Given the description of an element on the screen output the (x, y) to click on. 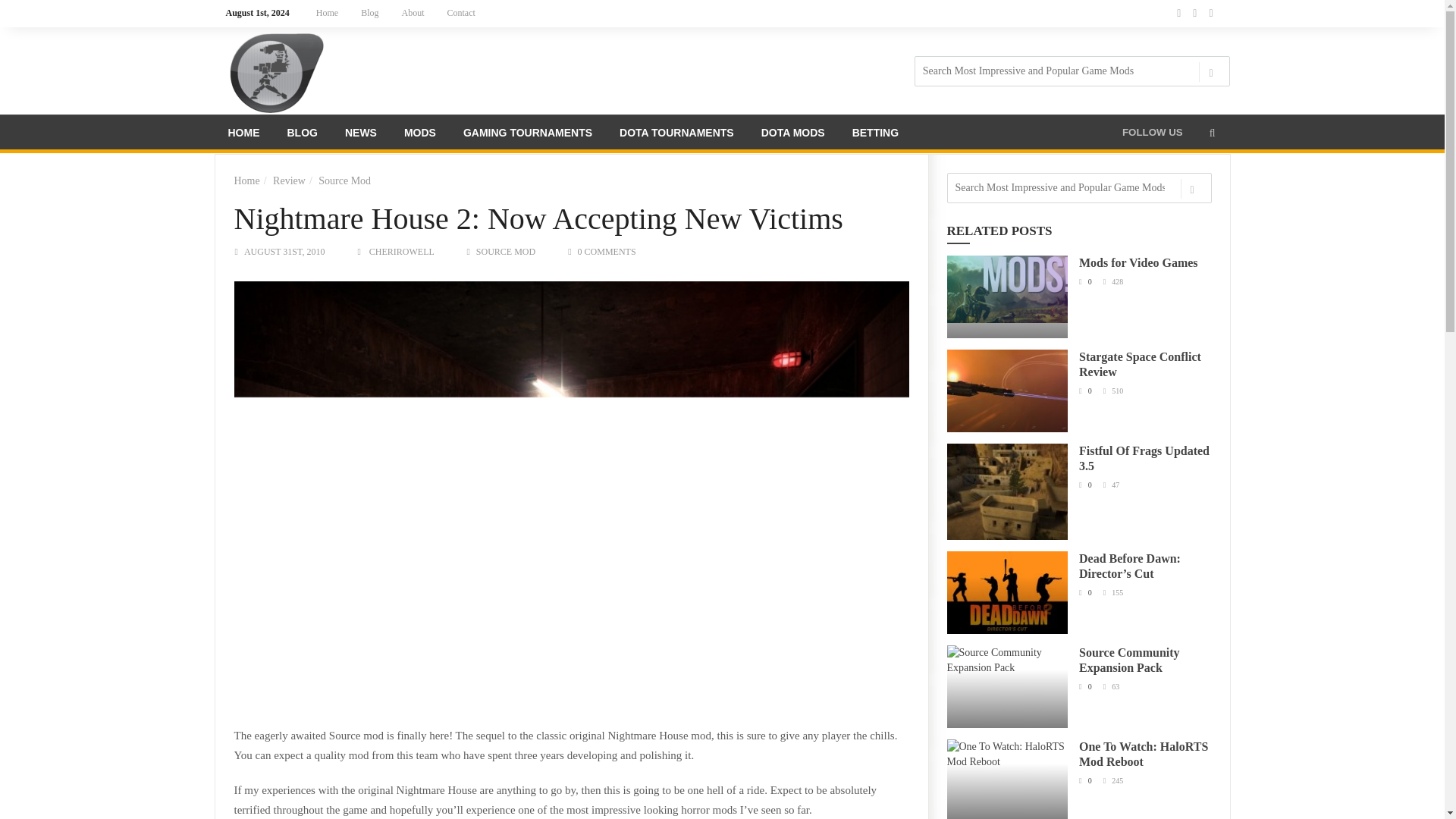
GAMING TOURNAMENTS (527, 134)
DOTA MODS (793, 134)
BLOG (301, 134)
MODS (419, 134)
View all posts in Source Mod (505, 251)
Review (289, 180)
NEWS (360, 134)
FOLLOW US (1151, 132)
Home (326, 13)
Contact (460, 13)
DOTA TOURNAMENTS (676, 134)
HOME (243, 134)
BETTING (875, 134)
Blog (369, 13)
About (412, 13)
